Given the description of an element on the screen output the (x, y) to click on. 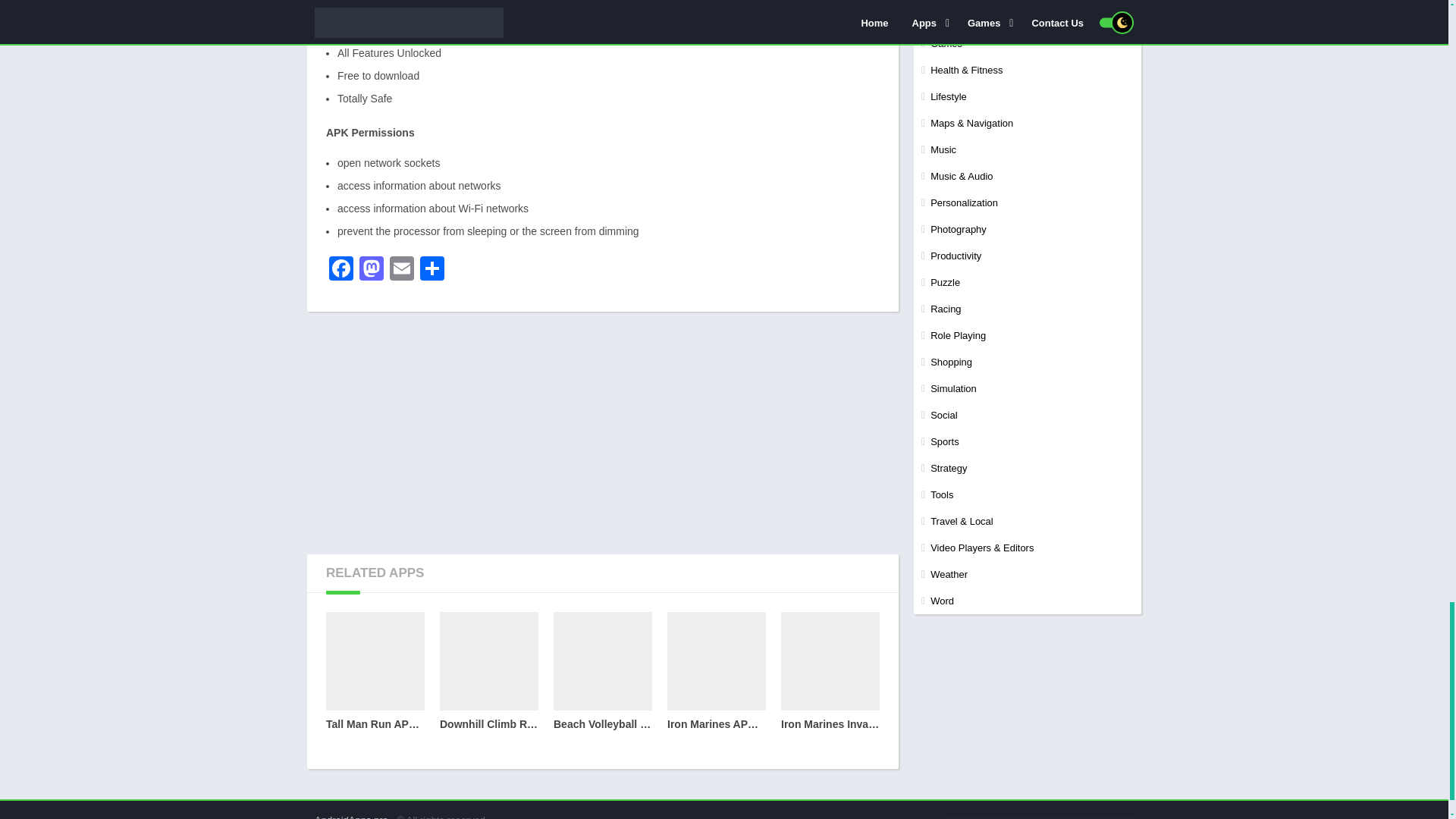
Email (401, 270)
Facebook (341, 270)
Mastodon (371, 270)
